Given the description of an element on the screen output the (x, y) to click on. 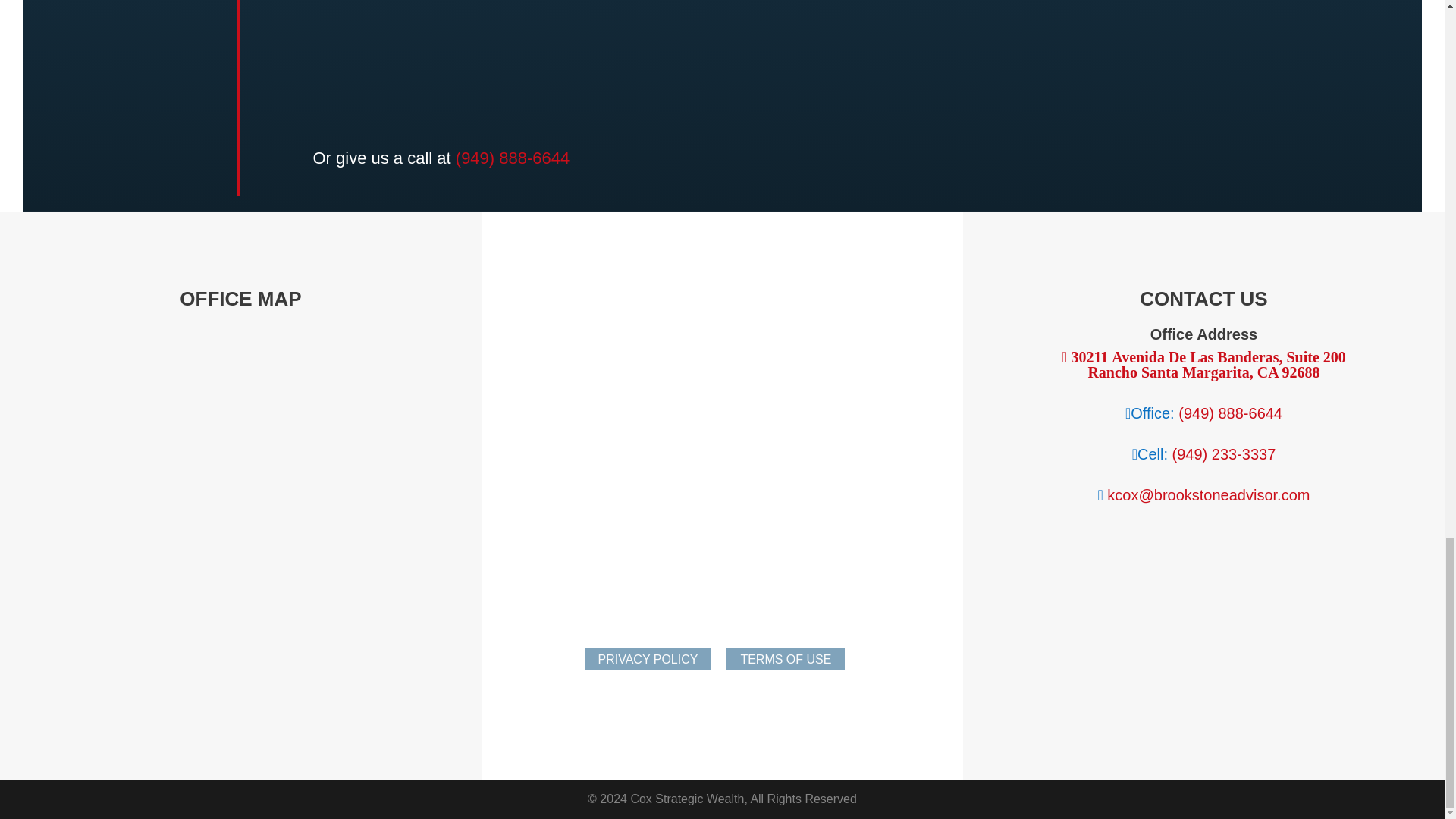
TERMS OF USE (785, 658)
PRIVACY POLICY (648, 658)
